Given the description of an element on the screen output the (x, y) to click on. 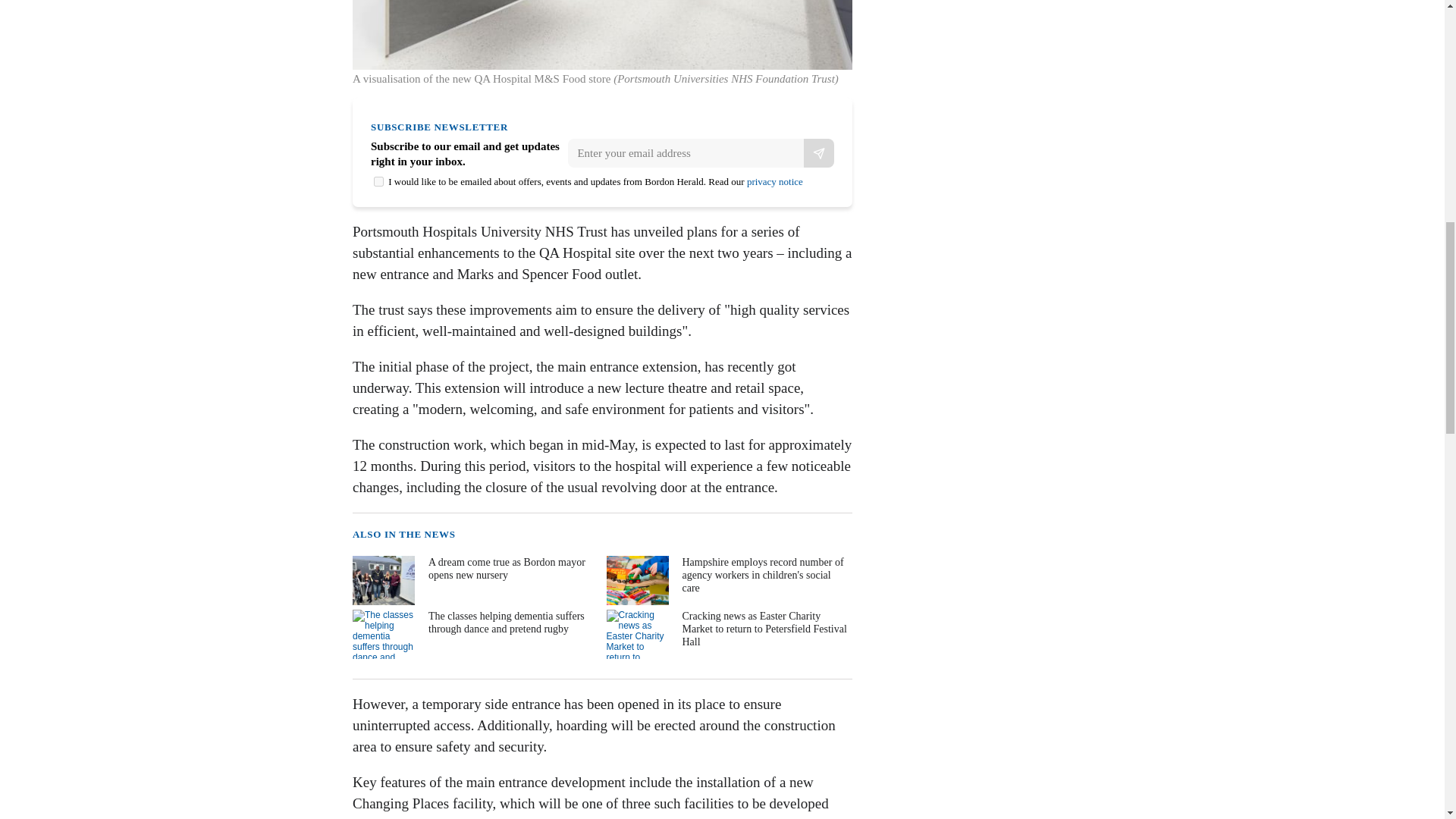
on (379, 181)
privacy notice (774, 181)
A dream come true as Bordon mayor opens new nursery (473, 580)
